Given the description of an element on the screen output the (x, y) to click on. 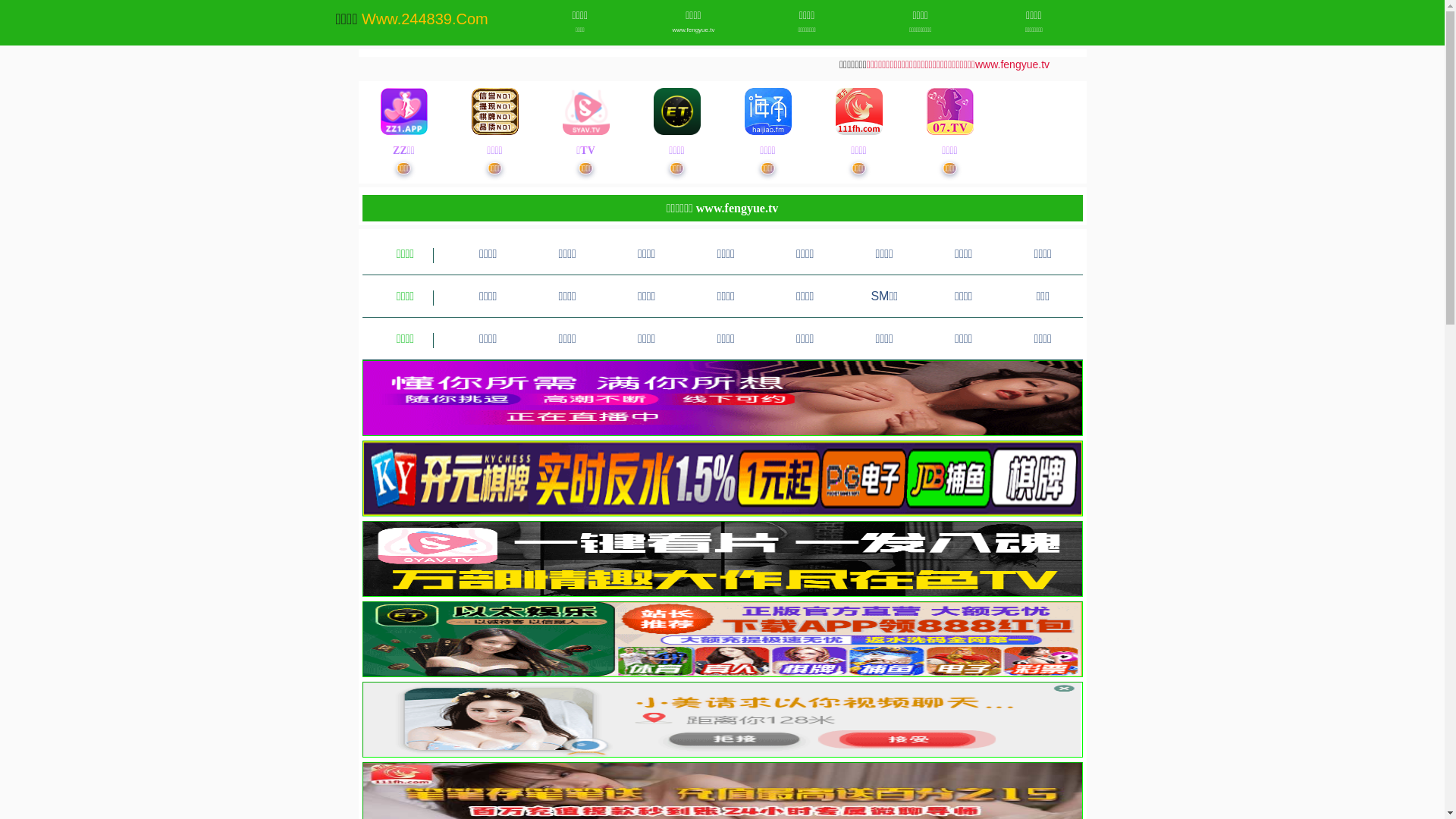
Www.244839.Com Element type: text (424, 18)
www.fengyue.tv Element type: text (693, 29)
